Given the description of an element on the screen output the (x, y) to click on. 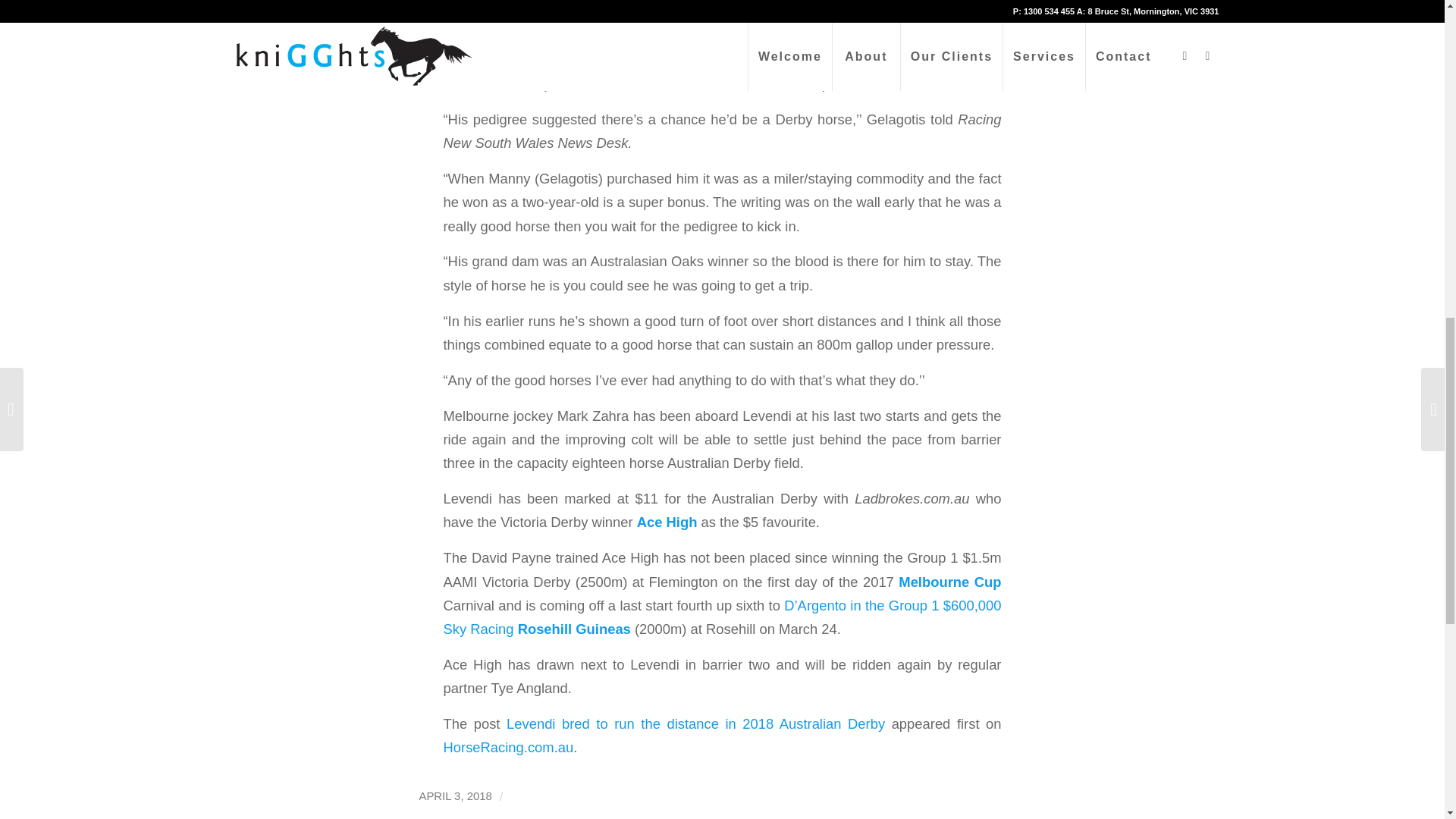
Levendi bred to run the distance in 2018 Australian Derby (695, 723)
HorseRacing.com.au (507, 747)
